Given the description of an element on the screen output the (x, y) to click on. 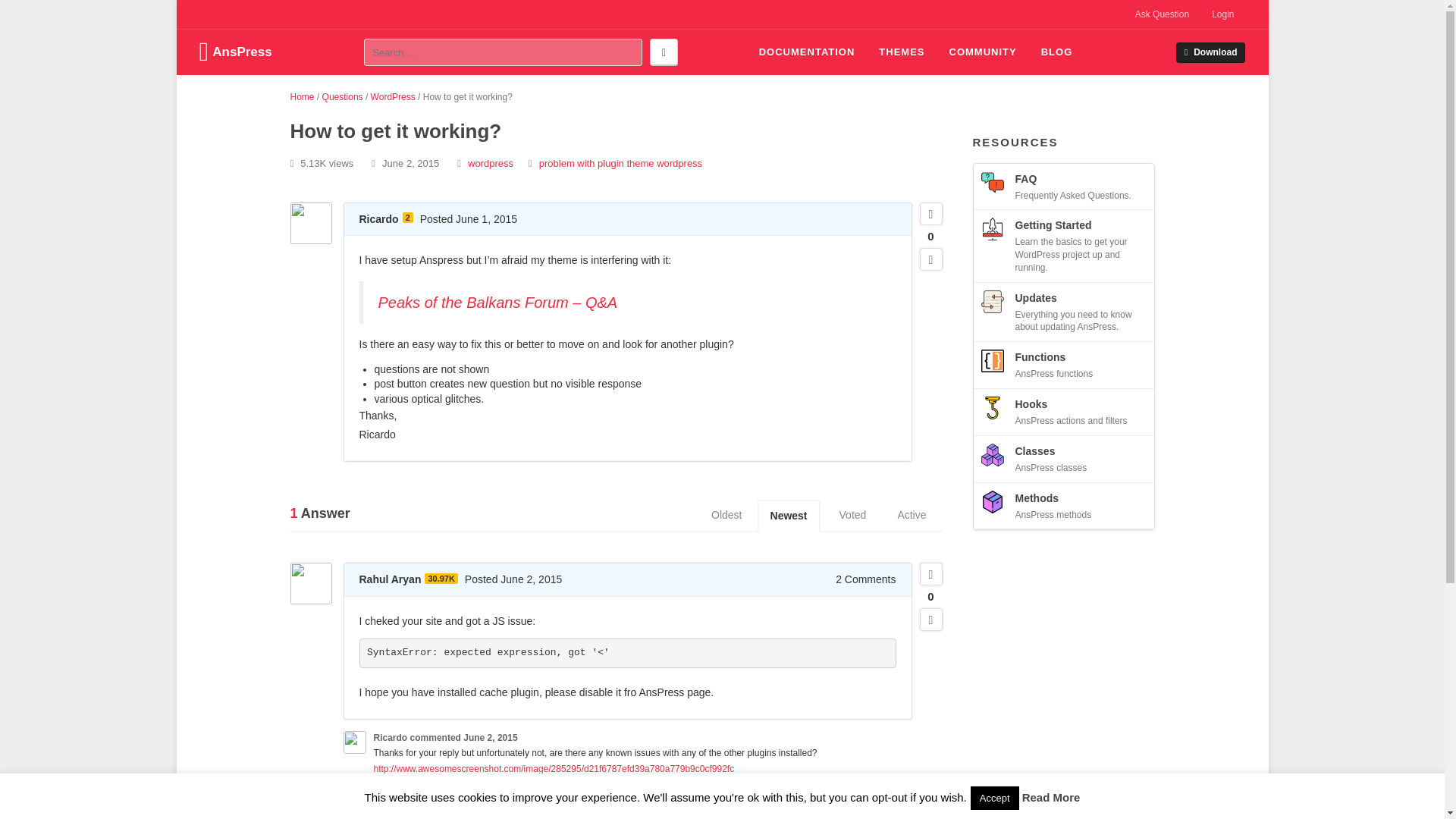
Posted June 2, 2015 (513, 579)
DOCUMENTATION (807, 52)
WordPress (392, 96)
Down vote this post (930, 259)
Reputation (441, 578)
Login (1221, 14)
30.97K (441, 578)
Voted (853, 515)
Home (301, 96)
Posted June 1, 2015 (468, 218)
